Given the description of an element on the screen output the (x, y) to click on. 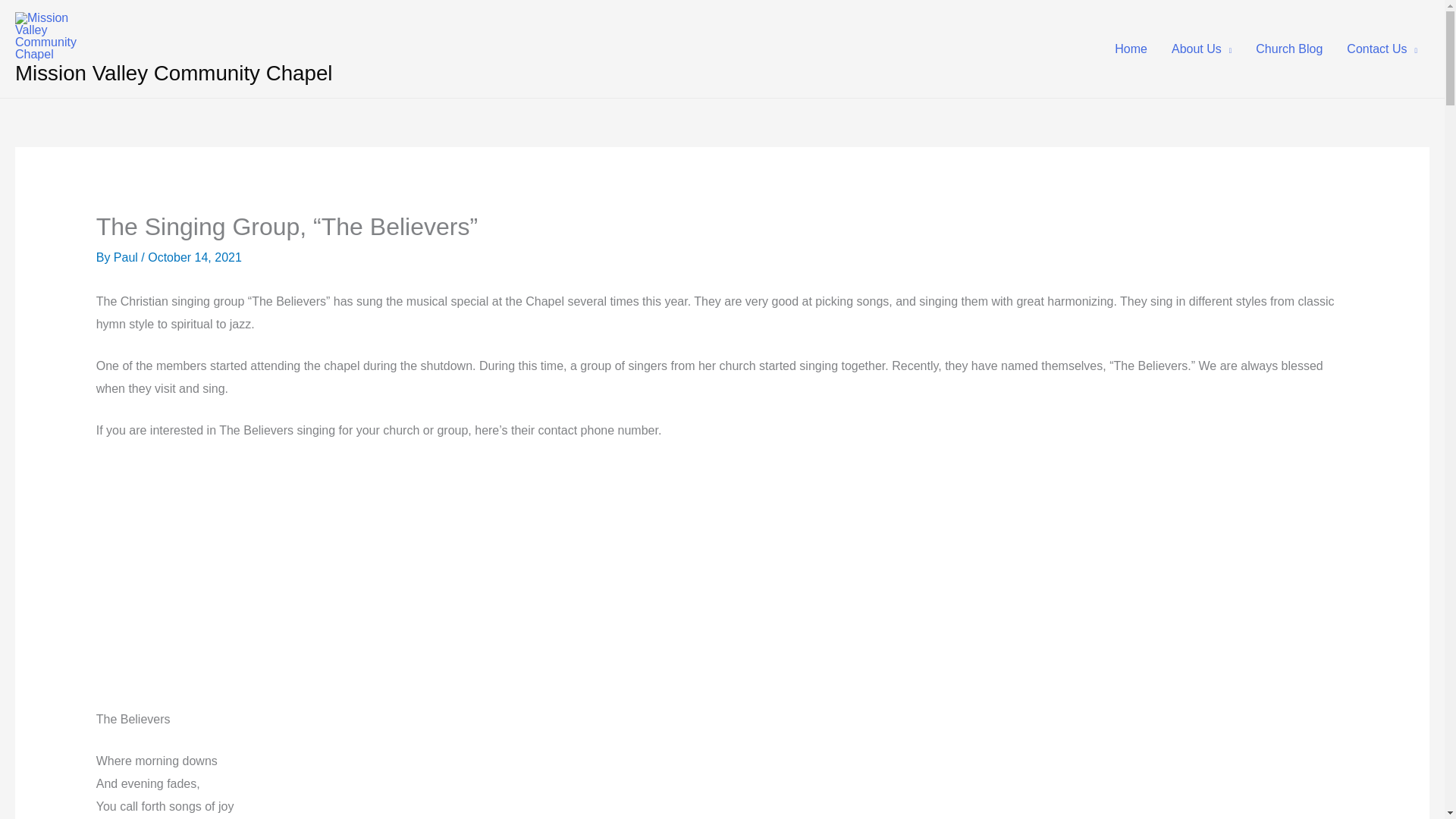
Church Blog (1289, 48)
Mission Valley Community Chapel (173, 73)
About Us (1200, 48)
Paul (127, 256)
Contact Us (1382, 48)
Home (1130, 48)
View all posts by Paul (127, 256)
